Given the description of an element on the screen output the (x, y) to click on. 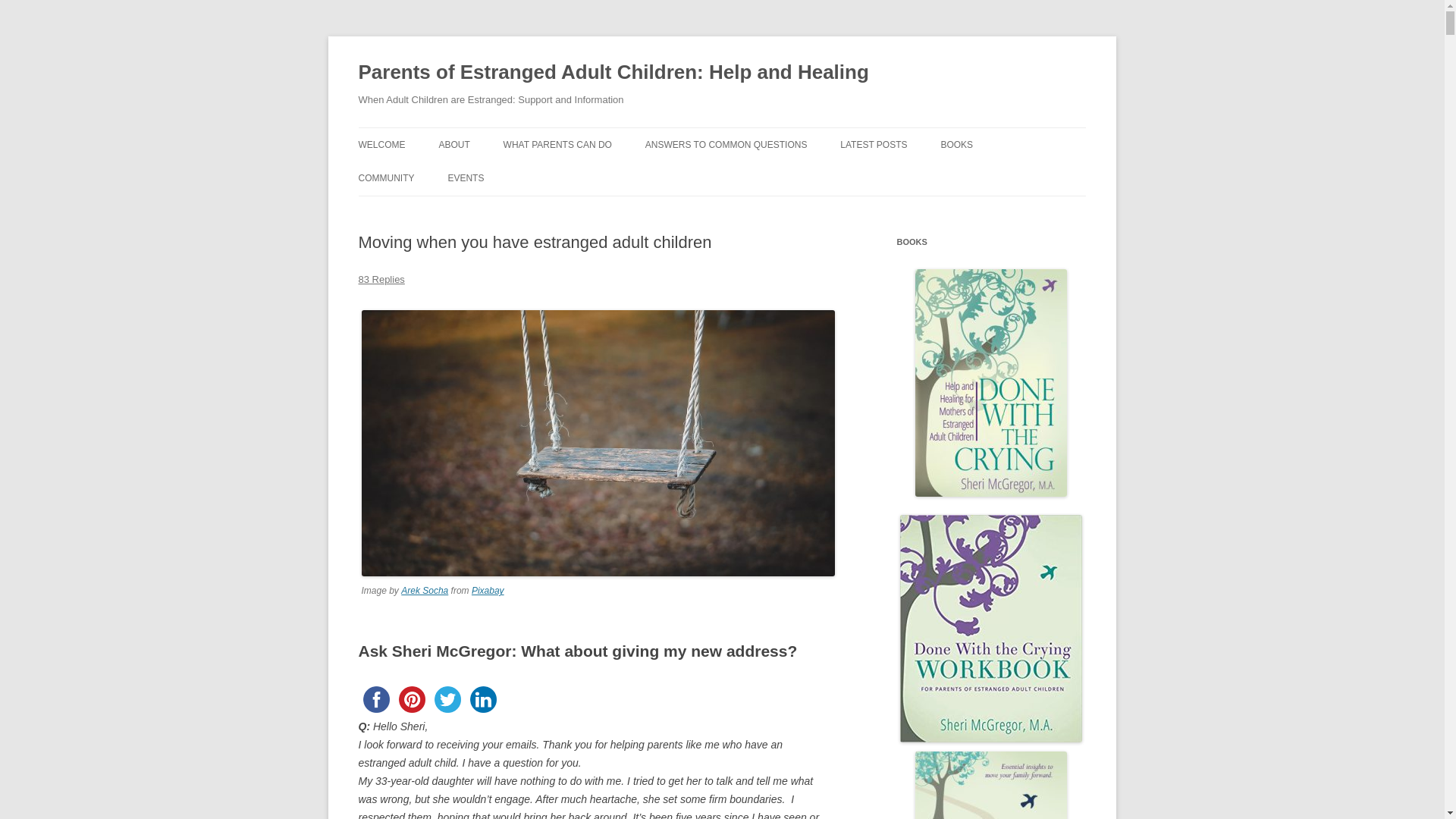
Pixabay (487, 590)
twitter (446, 699)
BOOKS (956, 144)
COMMUNITY (385, 177)
83 Replies (381, 279)
LATEST POSTS (873, 144)
Parents of Estranged Adult Children: Help and Healing (612, 72)
EVENTS (464, 177)
ABOUT (453, 144)
